Given the description of an element on the screen output the (x, y) to click on. 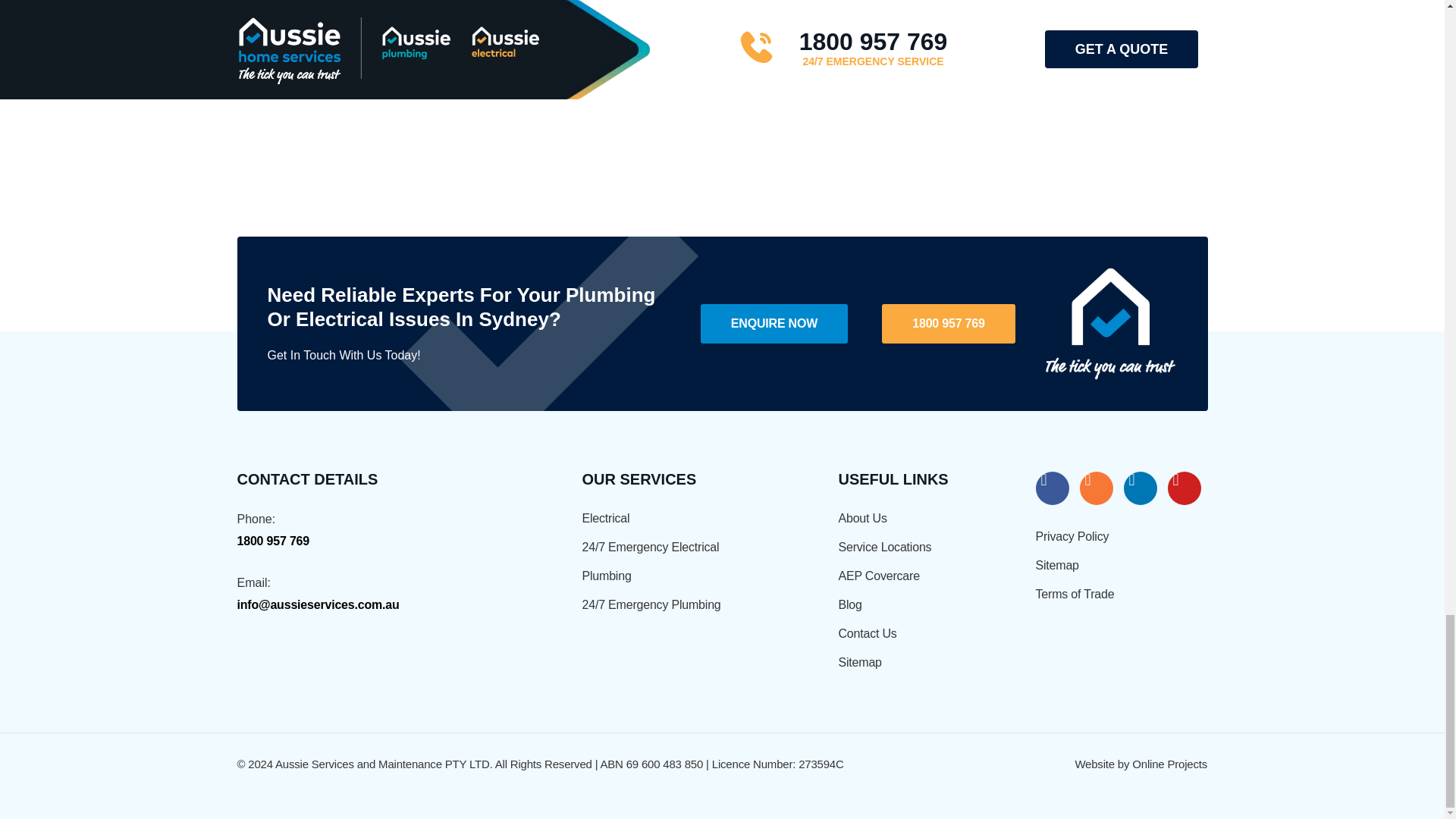
Bar Point, NSW Australia (721, 69)
